Given the description of an element on the screen output the (x, y) to click on. 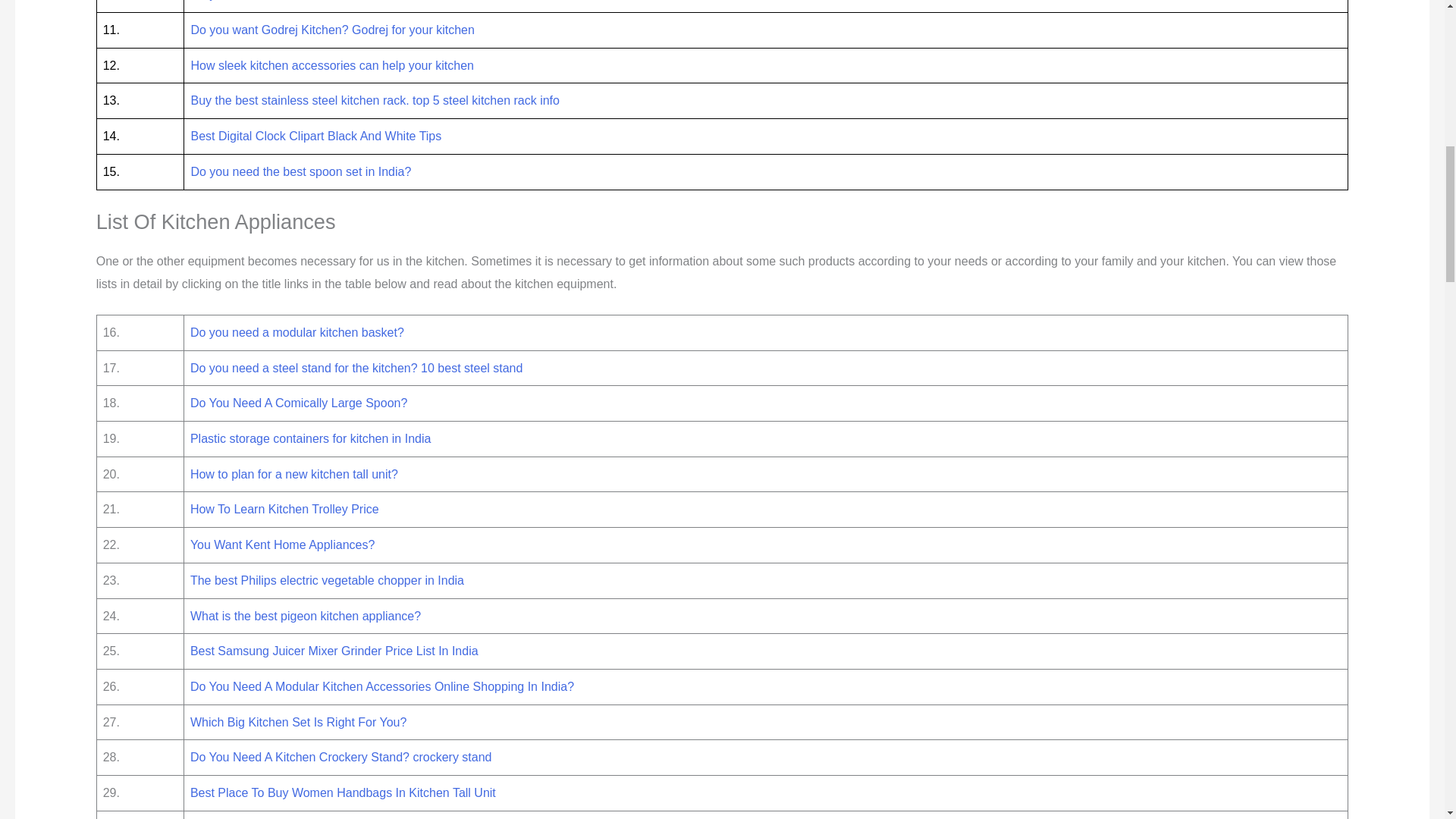
What is the best pigeon kitchen appliance? (305, 615)
Best Digital Clock Clipart Black And White Tips (315, 135)
Do you need a modular kitchen basket? (297, 332)
How sleek kitchen accessories can help your kitchen (332, 65)
How To Learn Kitchen Trolley Price (284, 508)
You Want Kent Home Appliances? (282, 544)
Do you want Godrej Kitchen? Godrej for your kitchen (332, 29)
Plastic storage containers for kitchen in India (310, 438)
The best Philips electric vegetable chopper in India (327, 580)
